Given the description of an element on the screen output the (x, y) to click on. 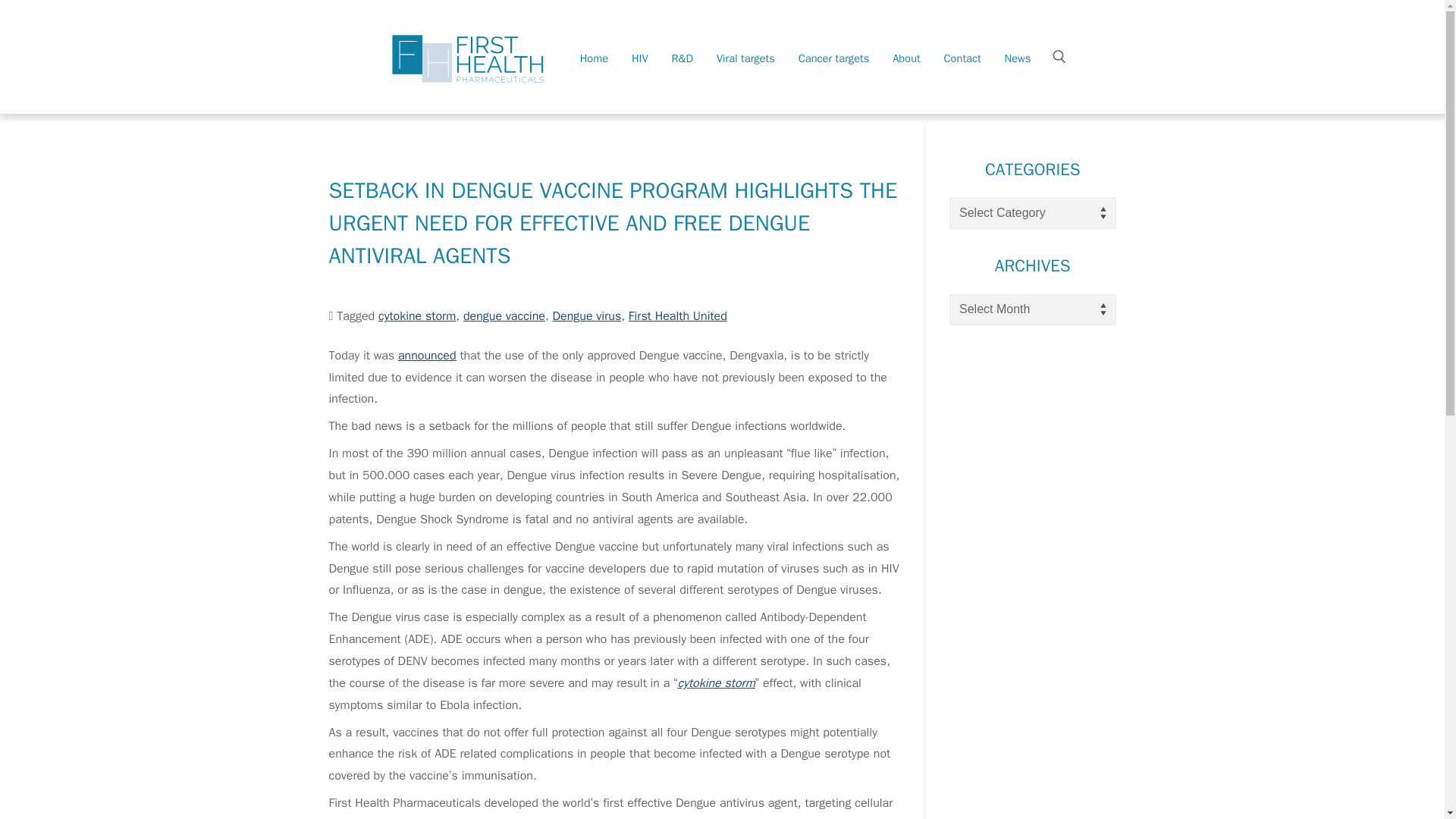
About (906, 65)
Contact (962, 65)
News (1017, 65)
Cancer targets (834, 65)
Viral targets (745, 65)
Home (593, 65)
